Given the description of an element on the screen output the (x, y) to click on. 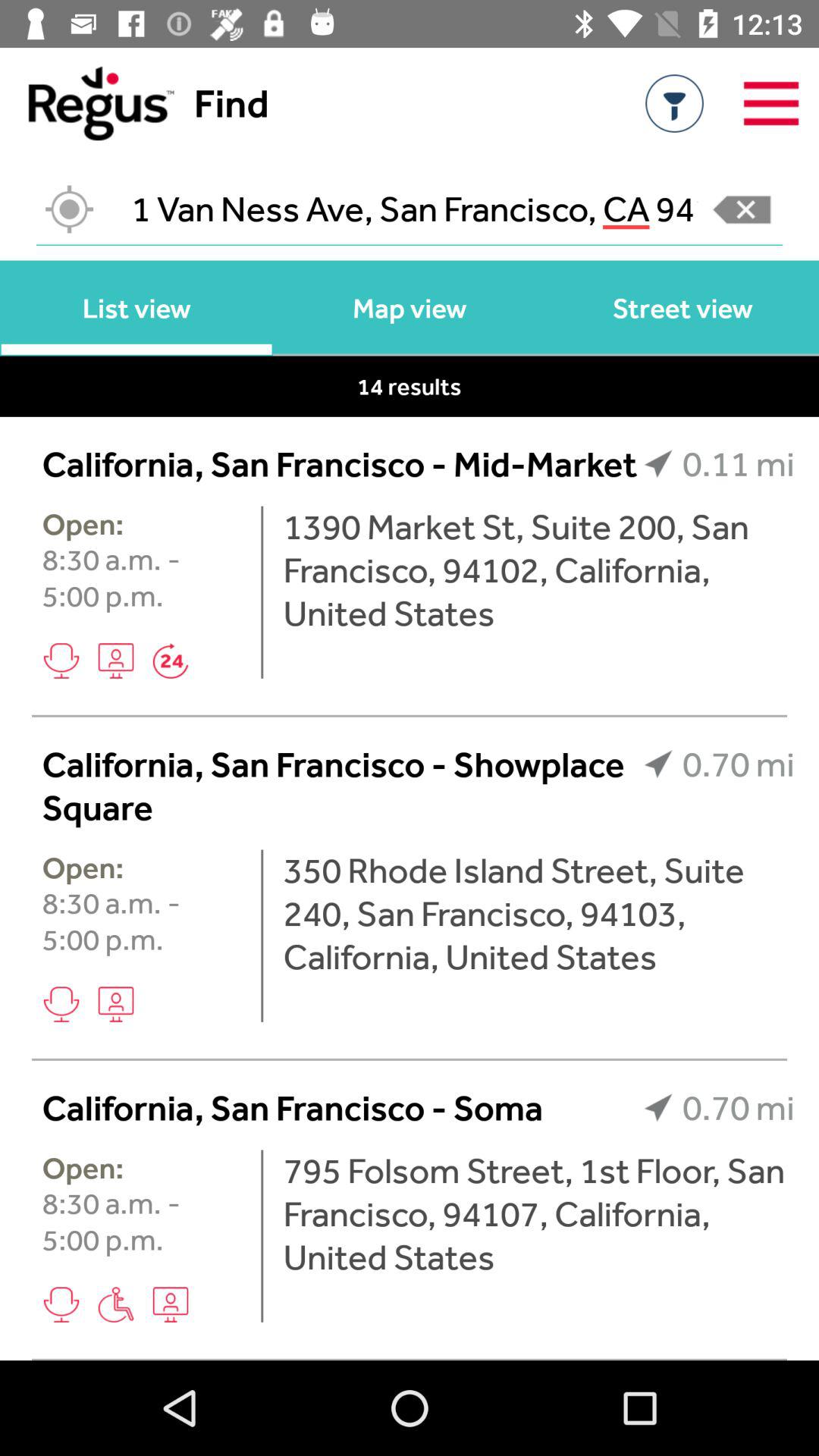
turn off the icon next to the 8 30 a icon (262, 592)
